Given the description of an element on the screen output the (x, y) to click on. 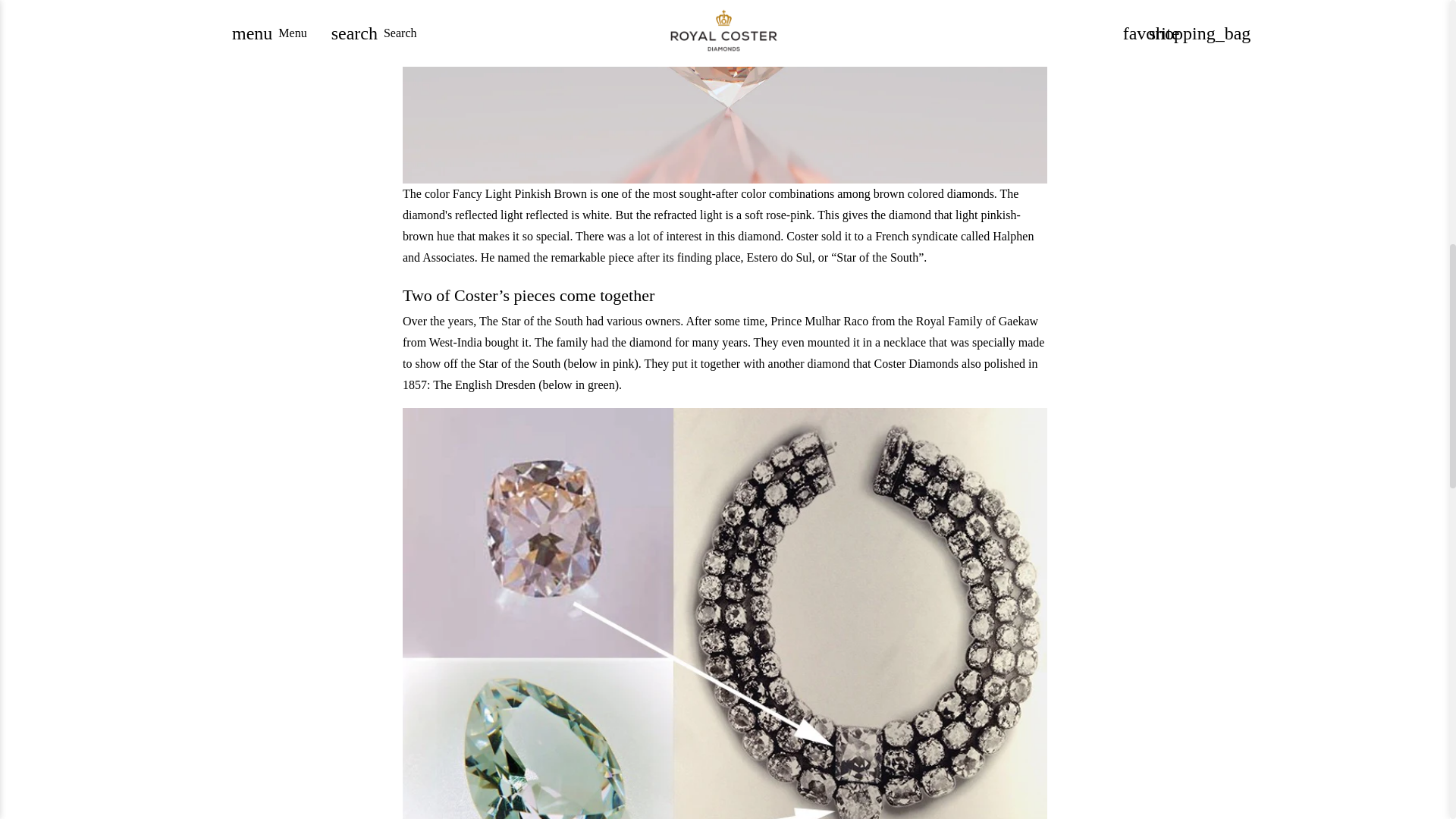
FareHarbor (1347, 64)
